Given the description of an element on the screen output the (x, y) to click on. 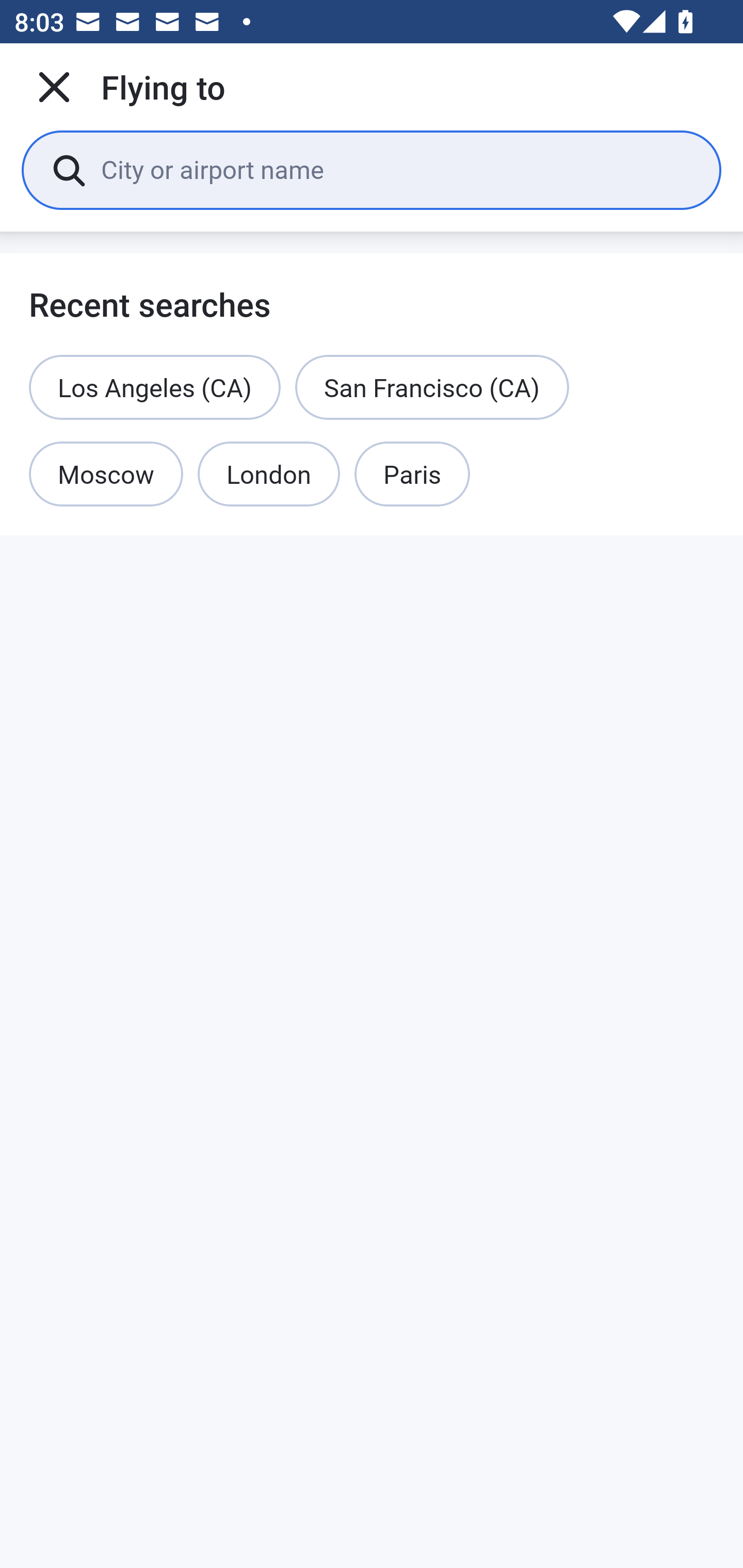
City or airport name (396, 169)
Los Angeles (CA) (154, 387)
San Francisco (CA) (431, 387)
Moscow (105, 474)
London (268, 474)
Paris (412, 474)
